Given the description of an element on the screen output the (x, y) to click on. 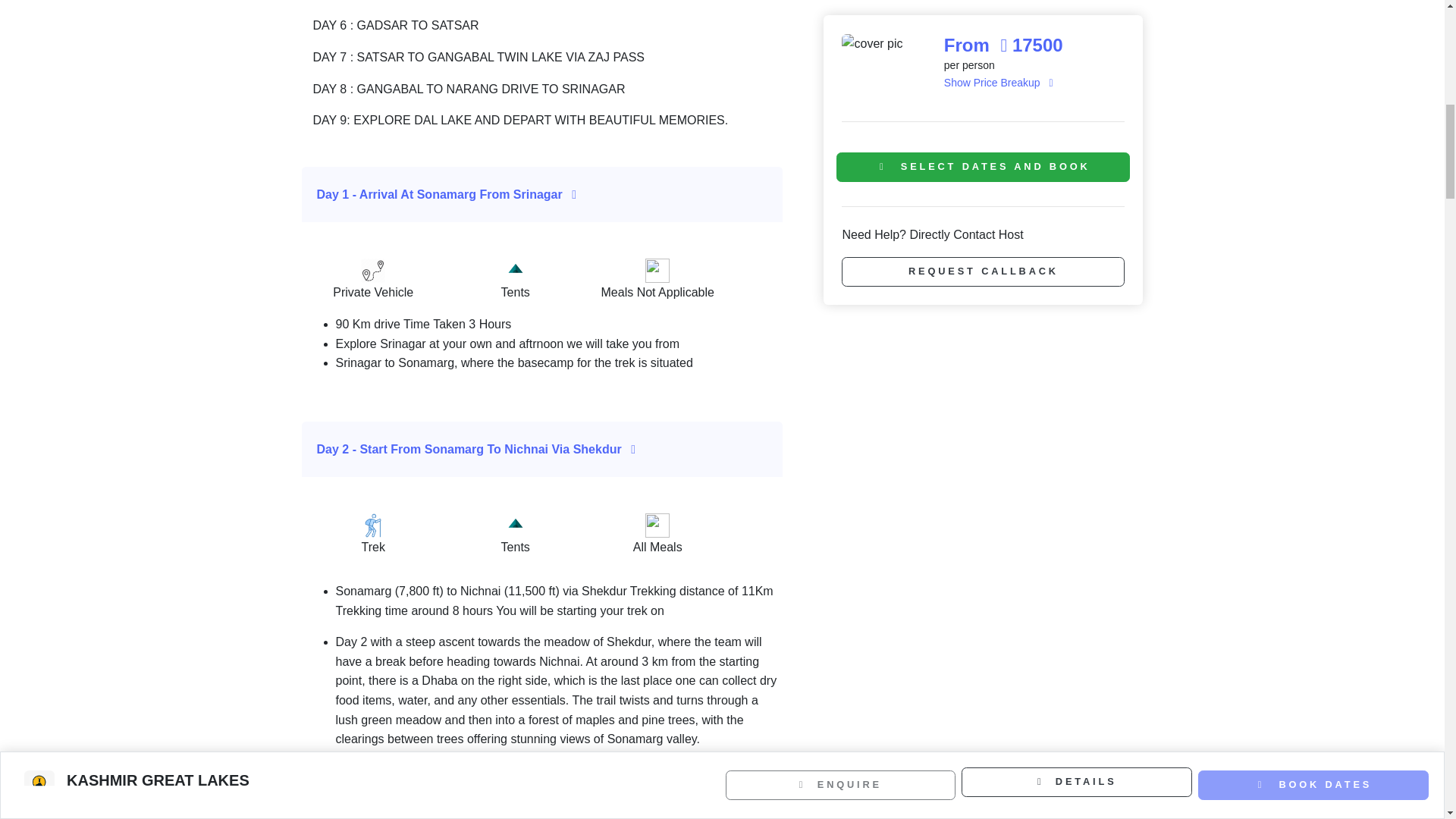
Day 1 - Arrival At Sonamarg From Srinagar (542, 194)
Day 2 - Start From Sonamarg To Nichnai Via Shekdur (542, 449)
